Given the description of an element on the screen output the (x, y) to click on. 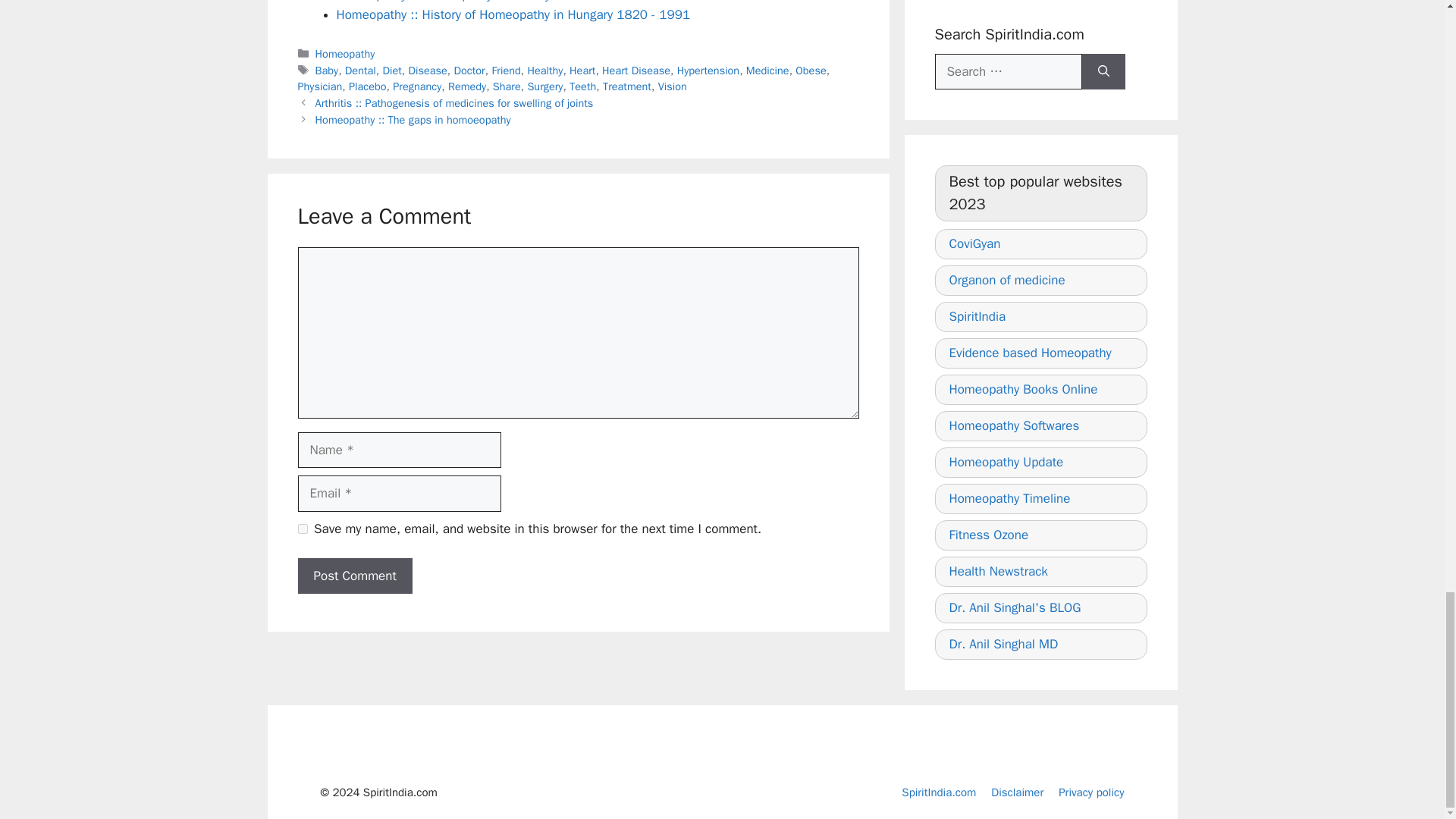
Healthy (544, 69)
Homeopathy :: History of Homeopathy in Hungary 1820 - 1991 (513, 14)
yes (302, 528)
Diet (391, 69)
Dental (360, 69)
Search for: (1007, 72)
Disease (426, 69)
Doctor (468, 69)
Post Comment (354, 575)
Hypertension (708, 69)
Friend (505, 69)
Heart (582, 69)
Homeopathy :: Homeopathy in Norway (443, 1)
Baby (327, 69)
Homeopathy (345, 53)
